Given the description of an element on the screen output the (x, y) to click on. 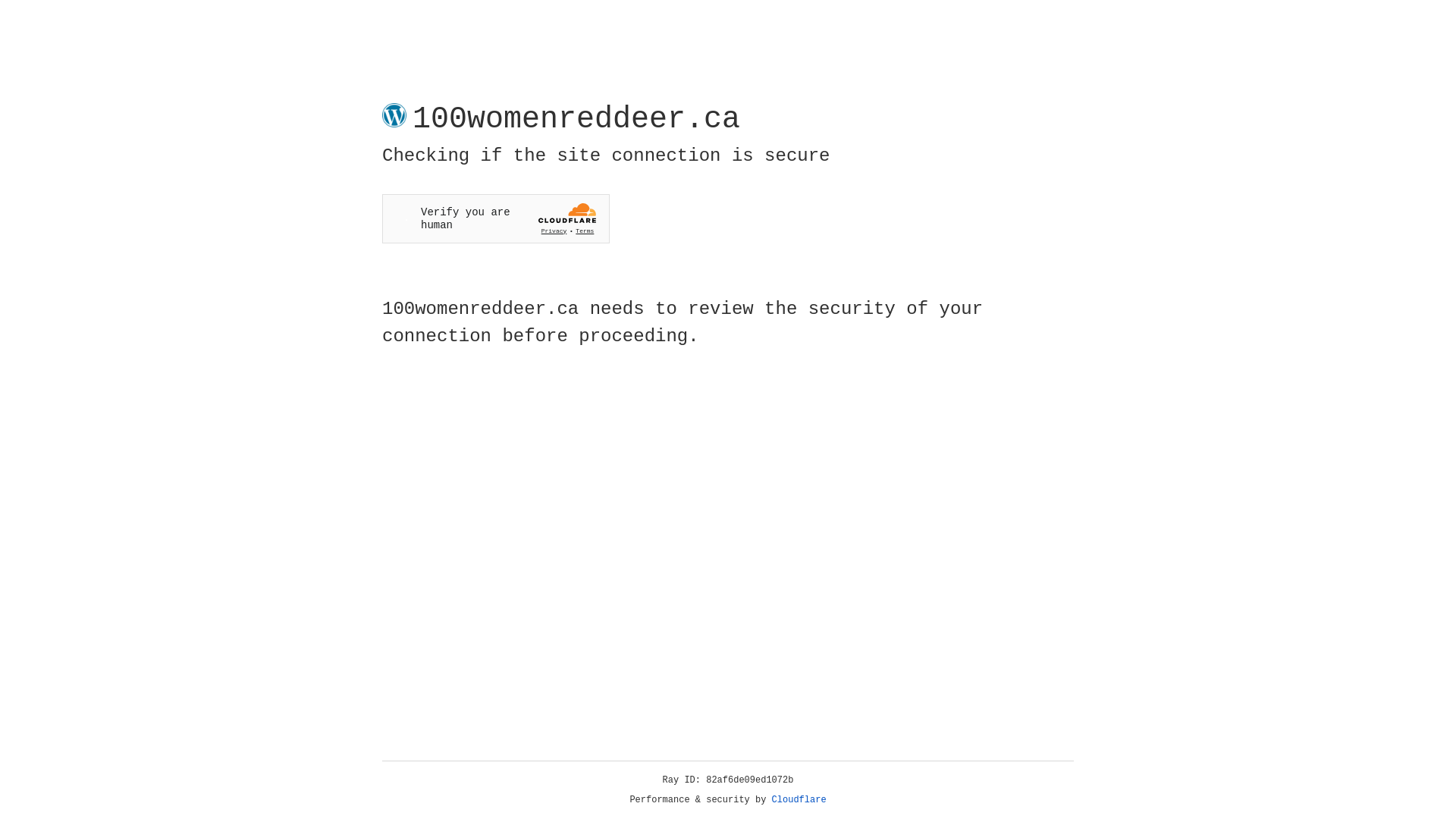
Widget containing a Cloudflare security challenge Element type: hover (495, 218)
Cloudflare Element type: text (798, 799)
